Given the description of an element on the screen output the (x, y) to click on. 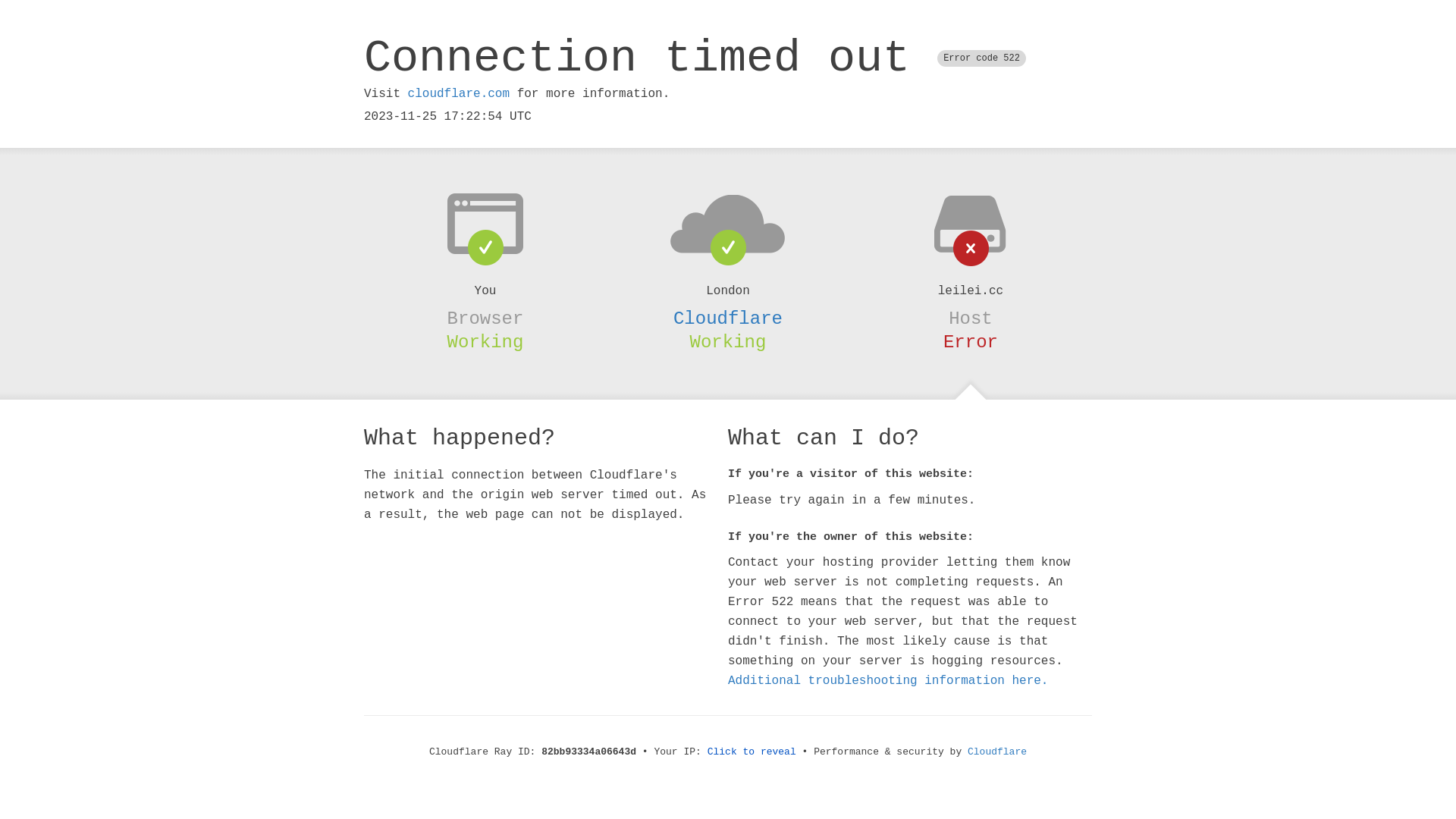
Click to reveal Element type: text (751, 751)
Additional troubleshooting information here. Element type: text (888, 680)
cloudflare.com Element type: text (458, 93)
Cloudflare Element type: text (727, 318)
Cloudflare Element type: text (996, 751)
